Given the description of an element on the screen output the (x, y) to click on. 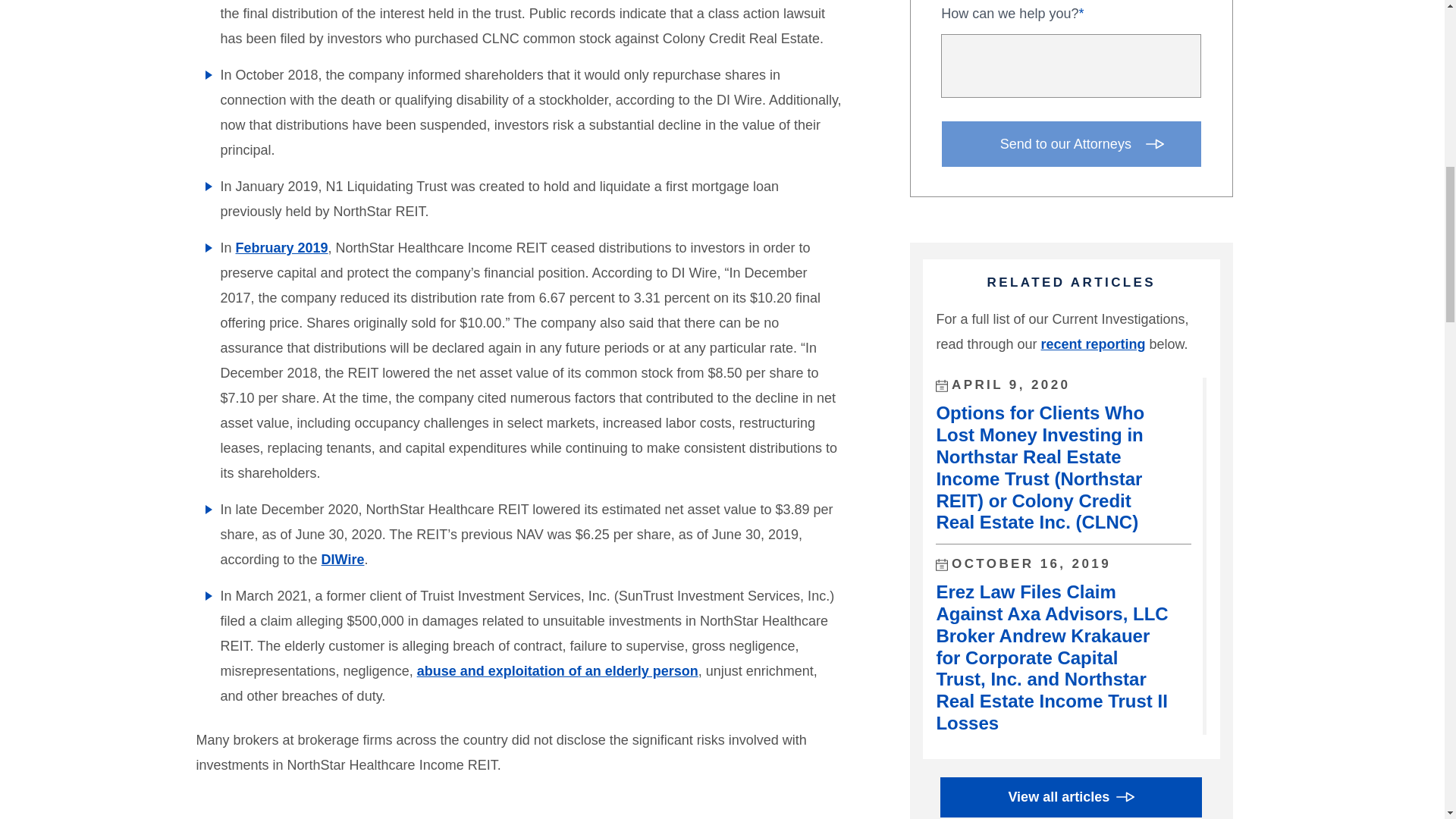
Send to our Attorneys (1071, 144)
